Given the description of an element on the screen output the (x, y) to click on. 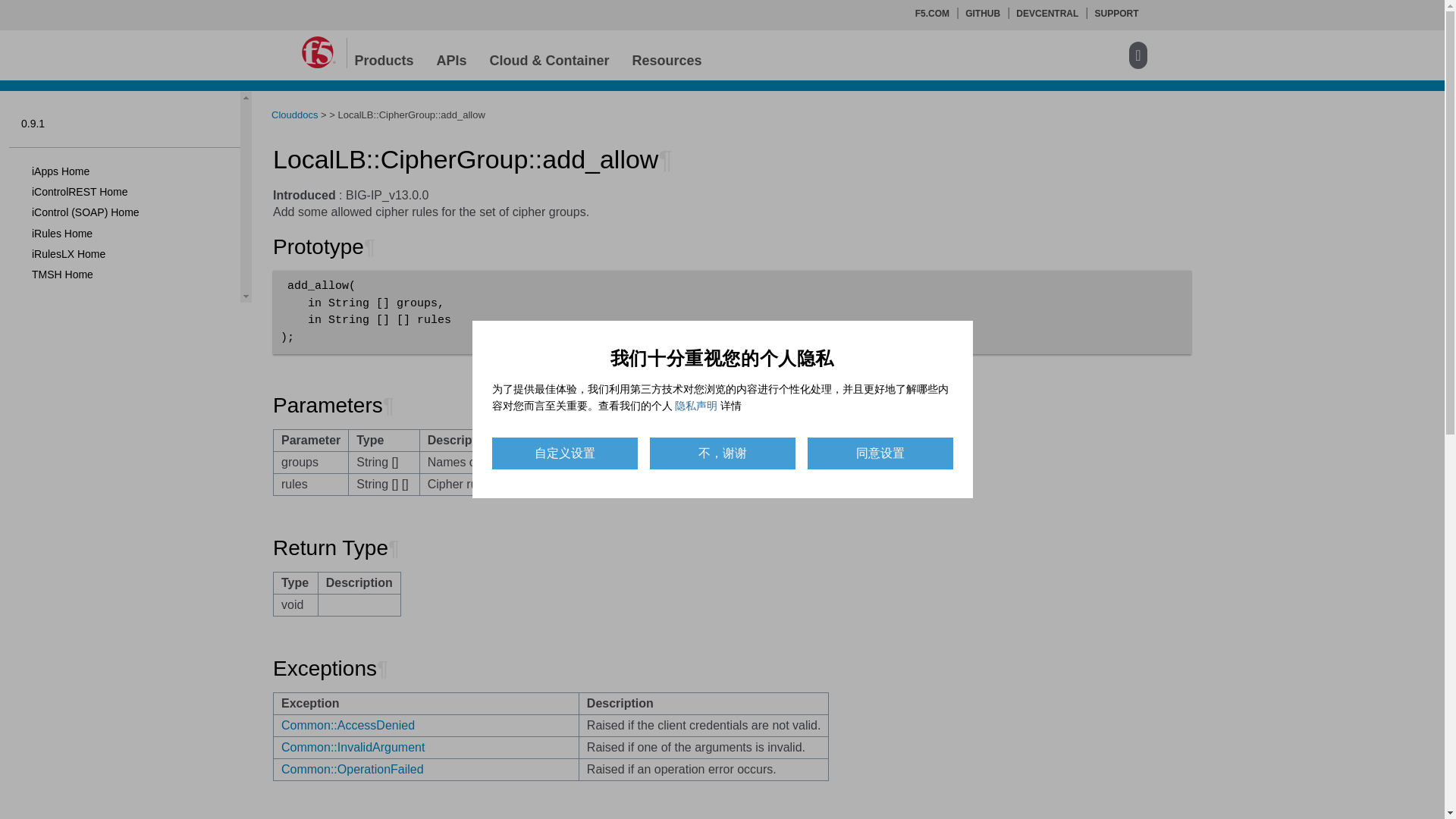
APIs (451, 56)
DEVCENTRAL (1047, 13)
F5.COM (932, 13)
F5 (318, 51)
GITHUB (982, 13)
SUPPORT (1116, 13)
Products (384, 56)
